Given the description of an element on the screen output the (x, y) to click on. 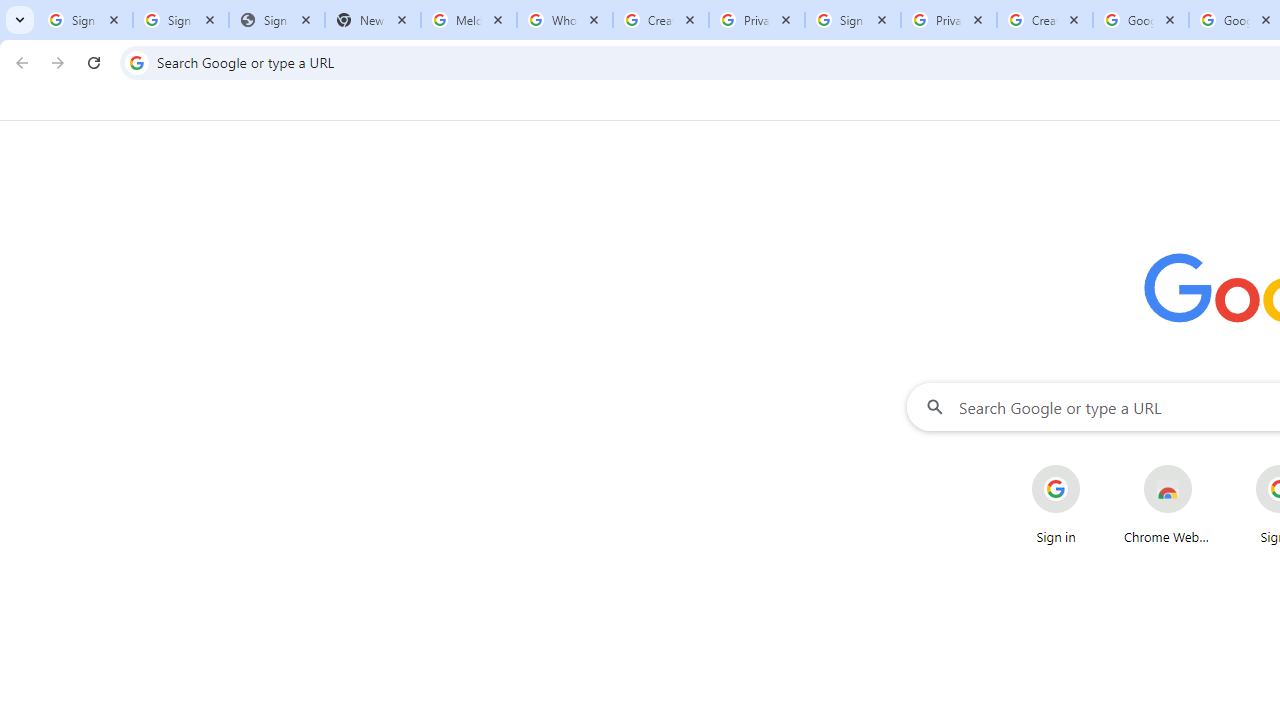
Who is my administrator? - Google Account Help (565, 20)
Create your Google Account (661, 20)
More actions for Chrome Web Store shortcut (1208, 466)
Sign In - USA TODAY (277, 20)
Sign in - Google Accounts (853, 20)
More actions for Sign in shortcut (1095, 466)
Create your Google Account (1045, 20)
